Given the description of an element on the screen output the (x, y) to click on. 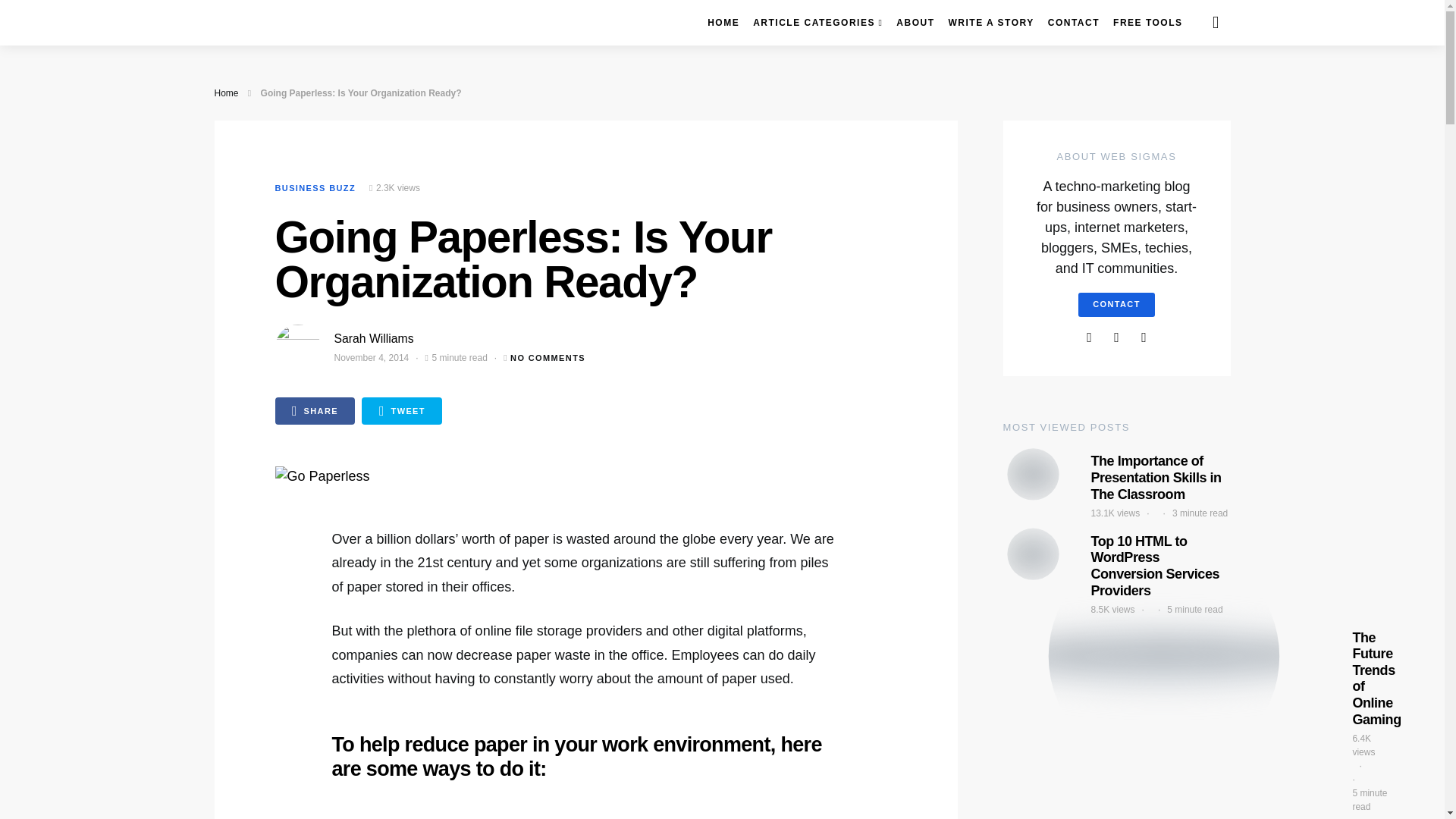
FREE TOOLS (1147, 22)
BUSINESS BUZZ (315, 187)
WRITE A STORY (990, 22)
CONTACT (1073, 22)
ARTICLE CATEGORIES (817, 22)
HOME (722, 22)
Home (226, 92)
ABOUT (914, 22)
